Given the description of an element on the screen output the (x, y) to click on. 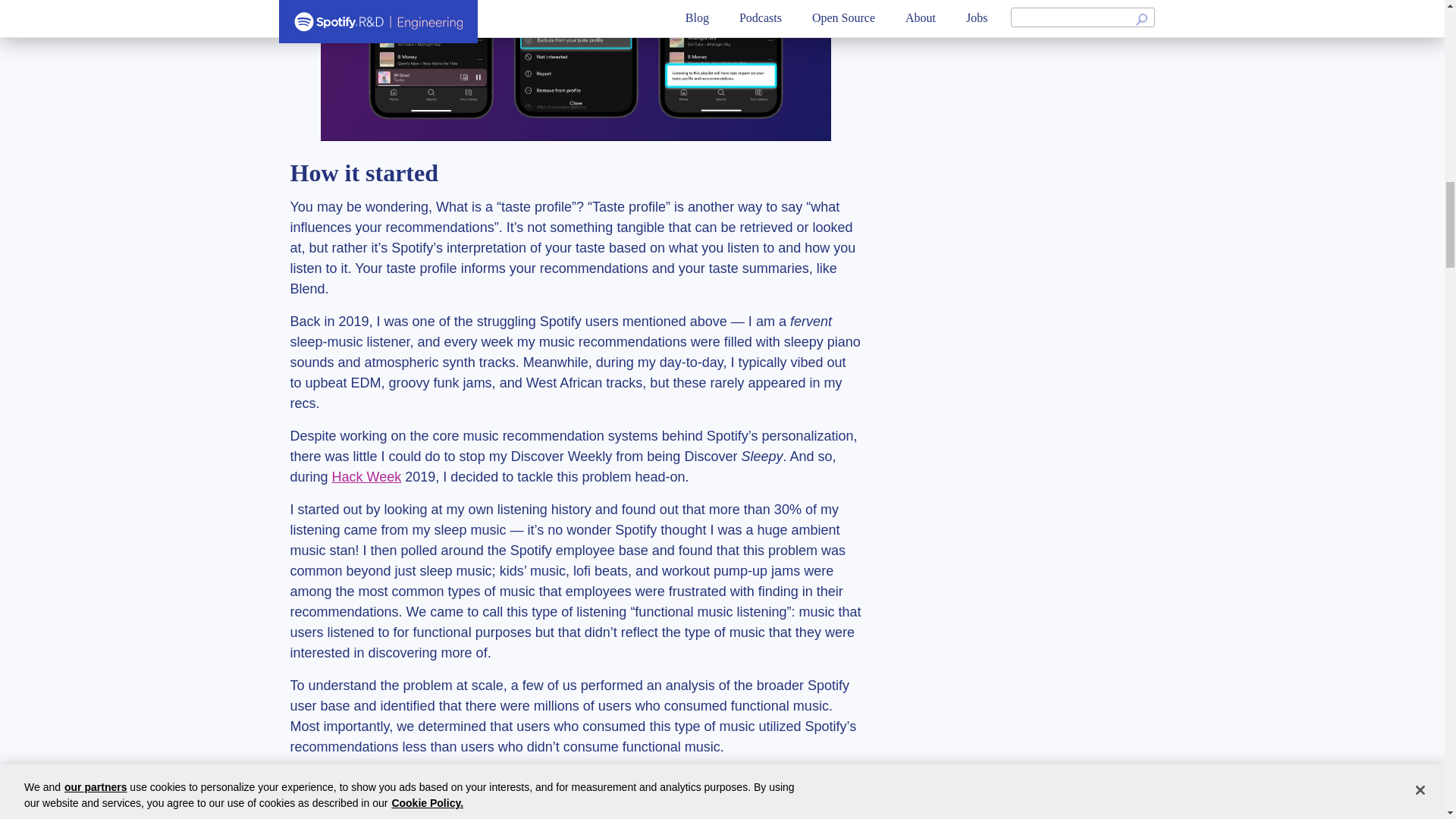
Hack Week (366, 476)
